Given the description of an element on the screen output the (x, y) to click on. 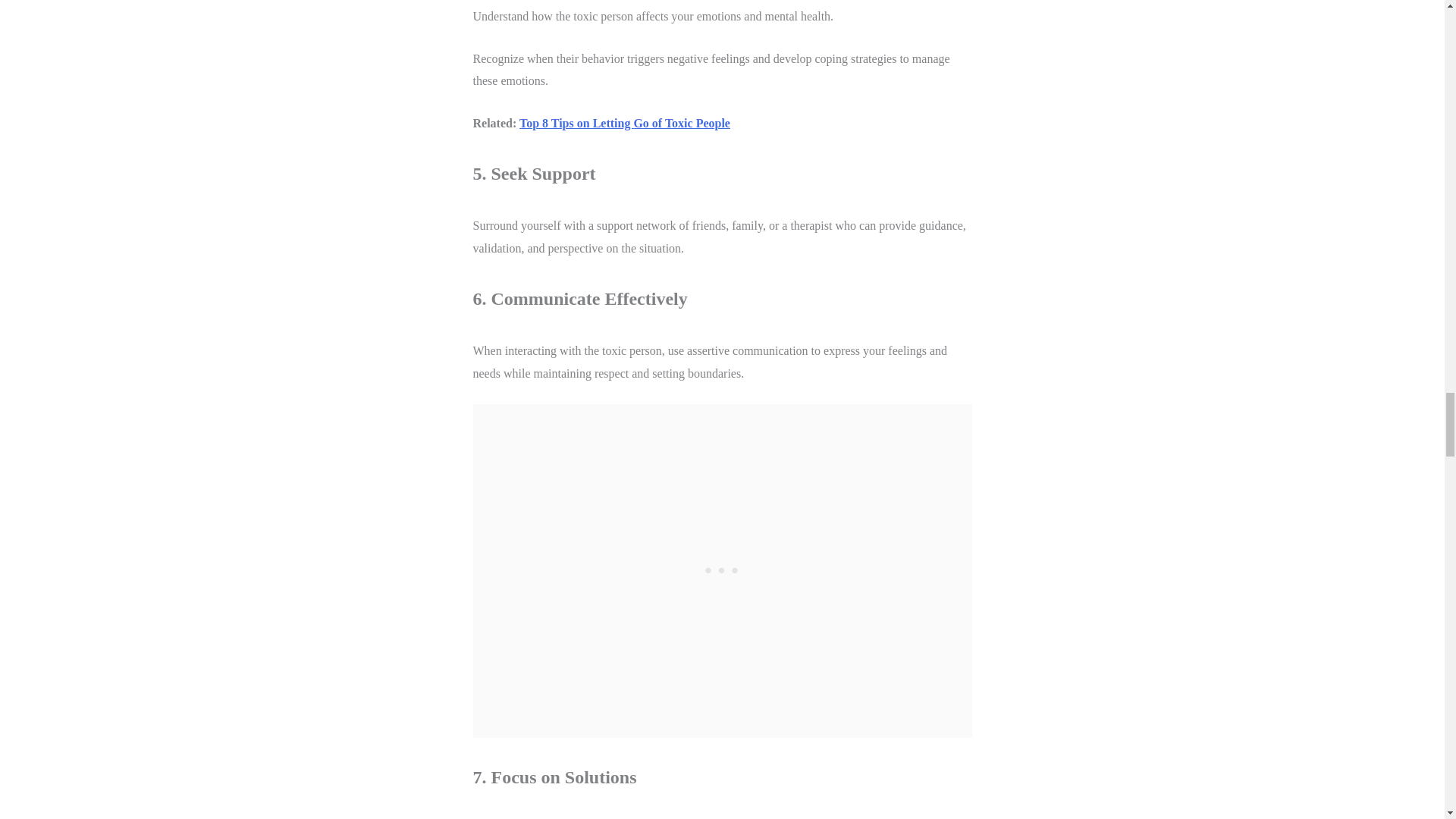
Top 8 Tips on Letting Go of Toxic People (624, 123)
